Given the description of an element on the screen output the (x, y) to click on. 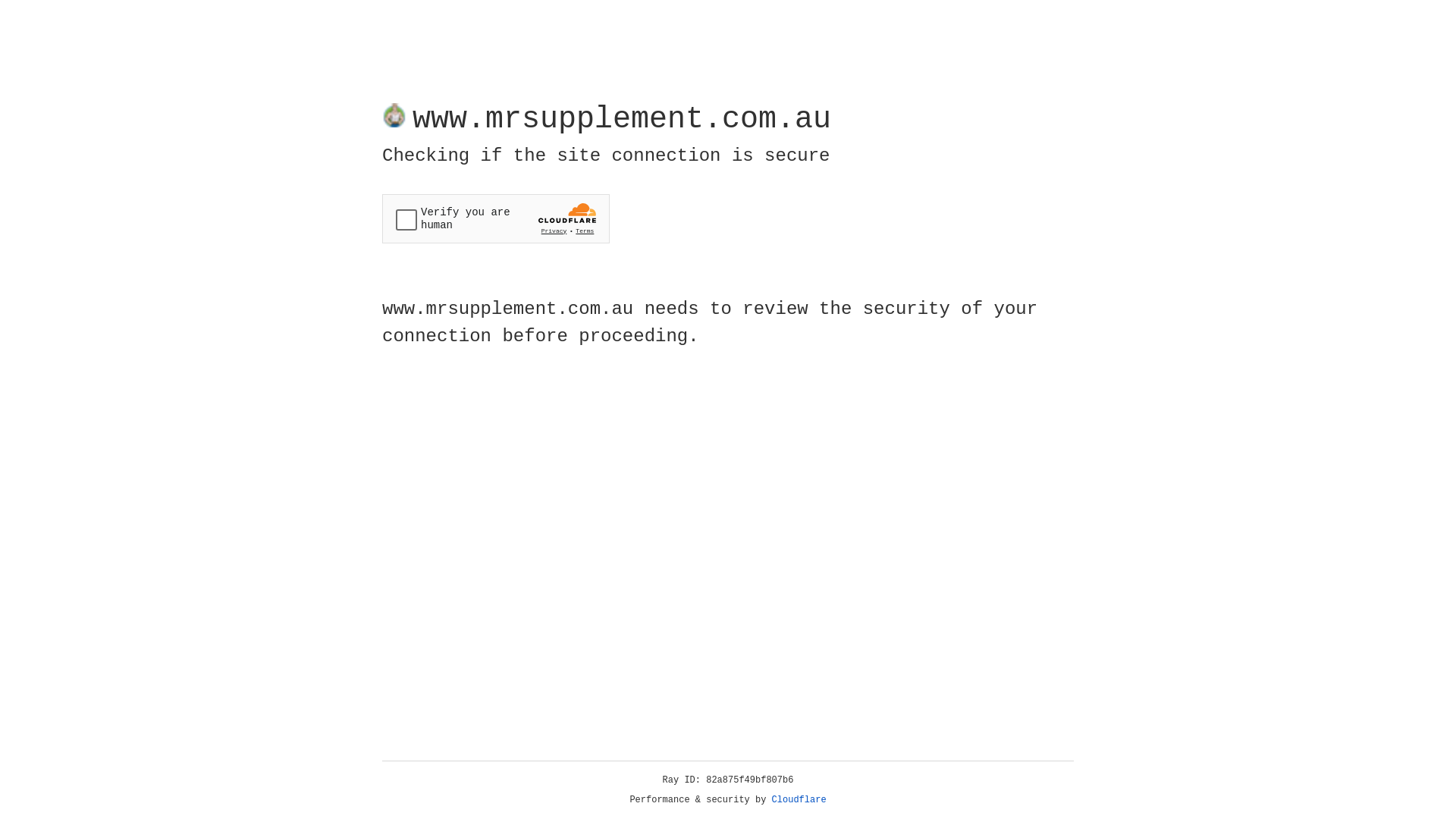
Widget containing a Cloudflare security challenge Element type: hover (495, 218)
Cloudflare Element type: text (798, 799)
